Given the description of an element on the screen output the (x, y) to click on. 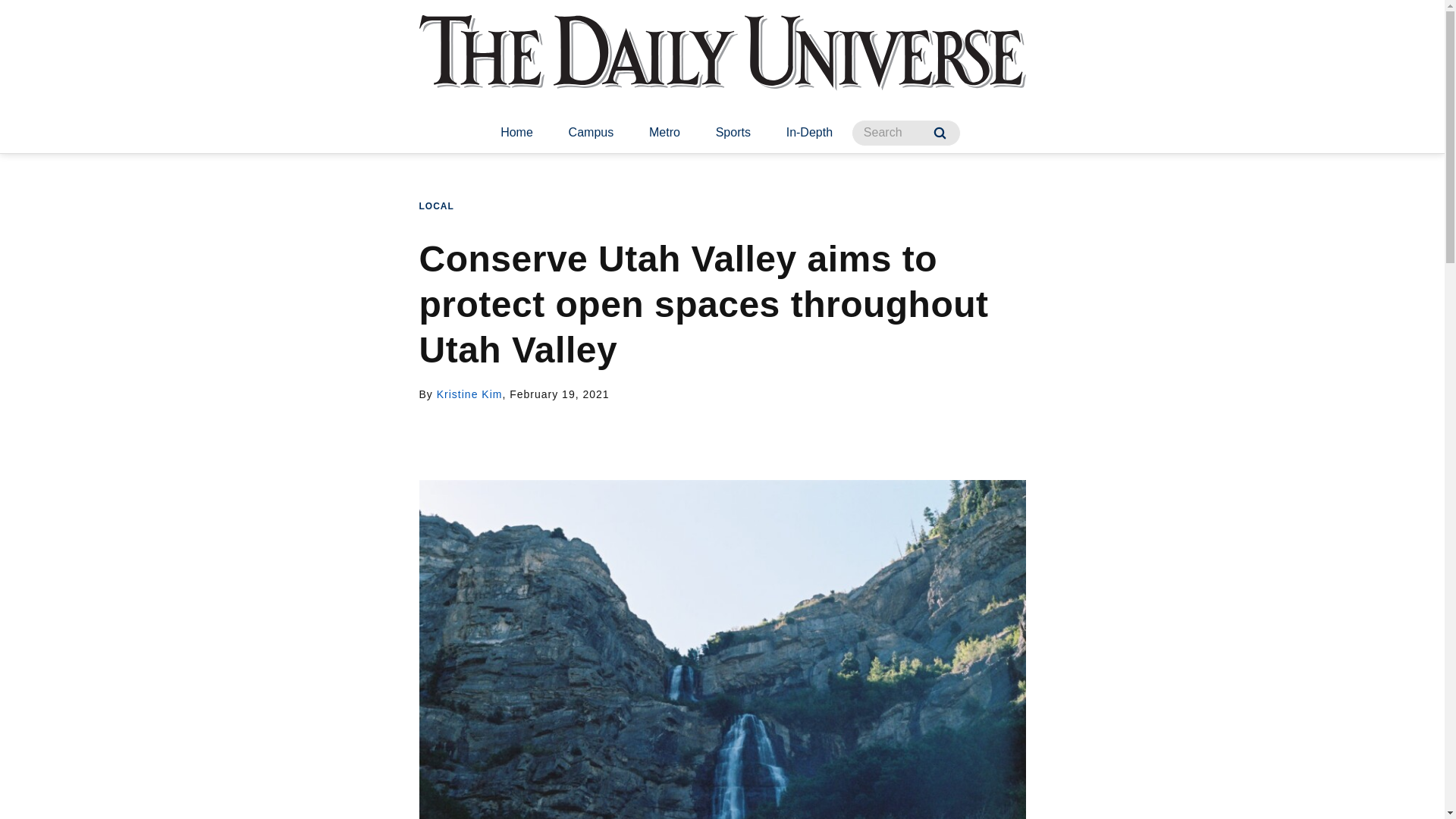
LOCAL (435, 206)
Sports (732, 133)
Metro (664, 133)
Kristine Kim (469, 394)
Campus (590, 133)
Search (939, 132)
Home (516, 133)
In-Depth (809, 133)
